Given the description of an element on the screen output the (x, y) to click on. 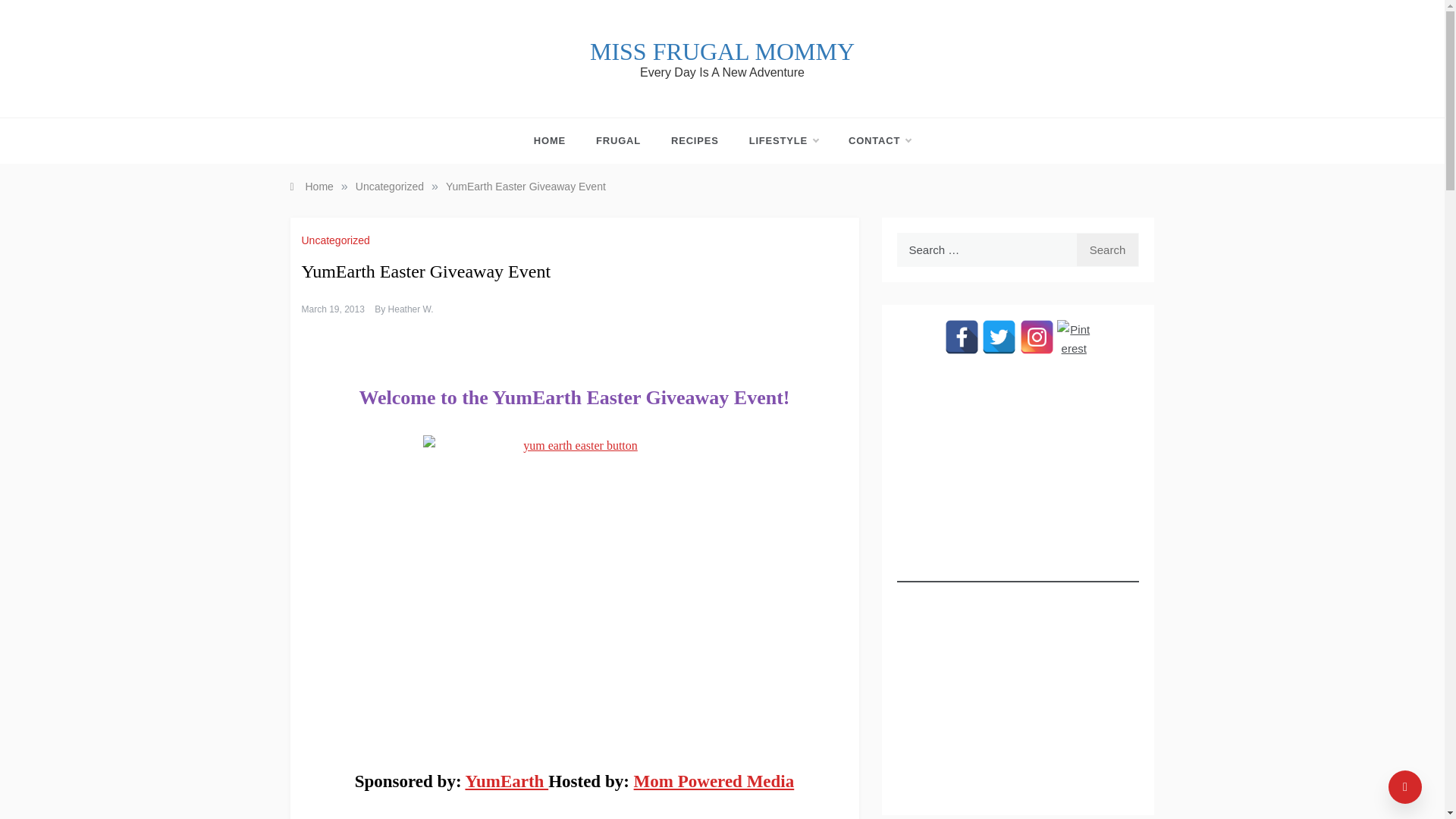
MISS FRUGAL MOMMY (721, 51)
YumEarth (506, 781)
Search (1107, 249)
Pinterest (1073, 336)
Twitter (998, 336)
March 19, 2013 (333, 308)
FRUGAL (618, 140)
LIFESTYLE (782, 140)
Heather W. (410, 308)
Uncategorized (389, 186)
